Given the description of an element on the screen output the (x, y) to click on. 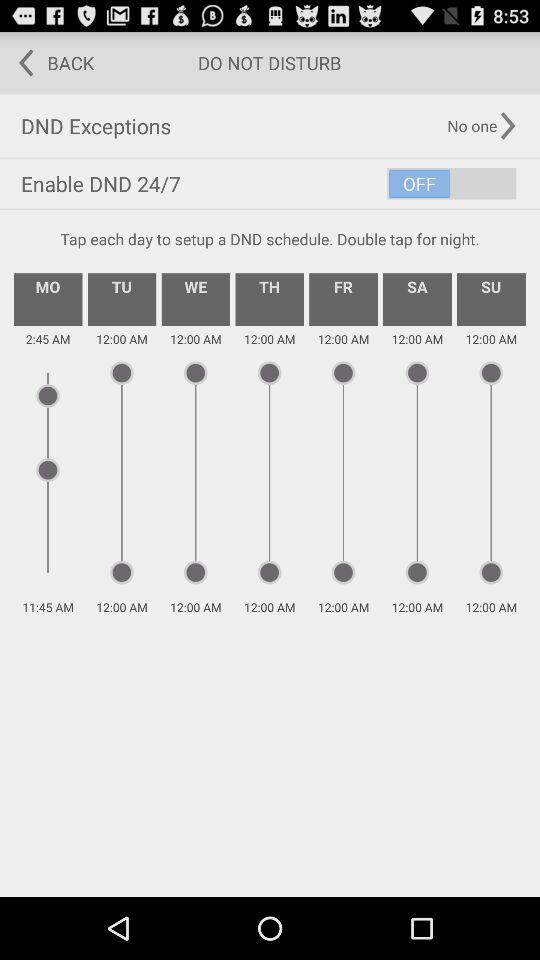
jump until sa (417, 299)
